Given the description of an element on the screen output the (x, y) to click on. 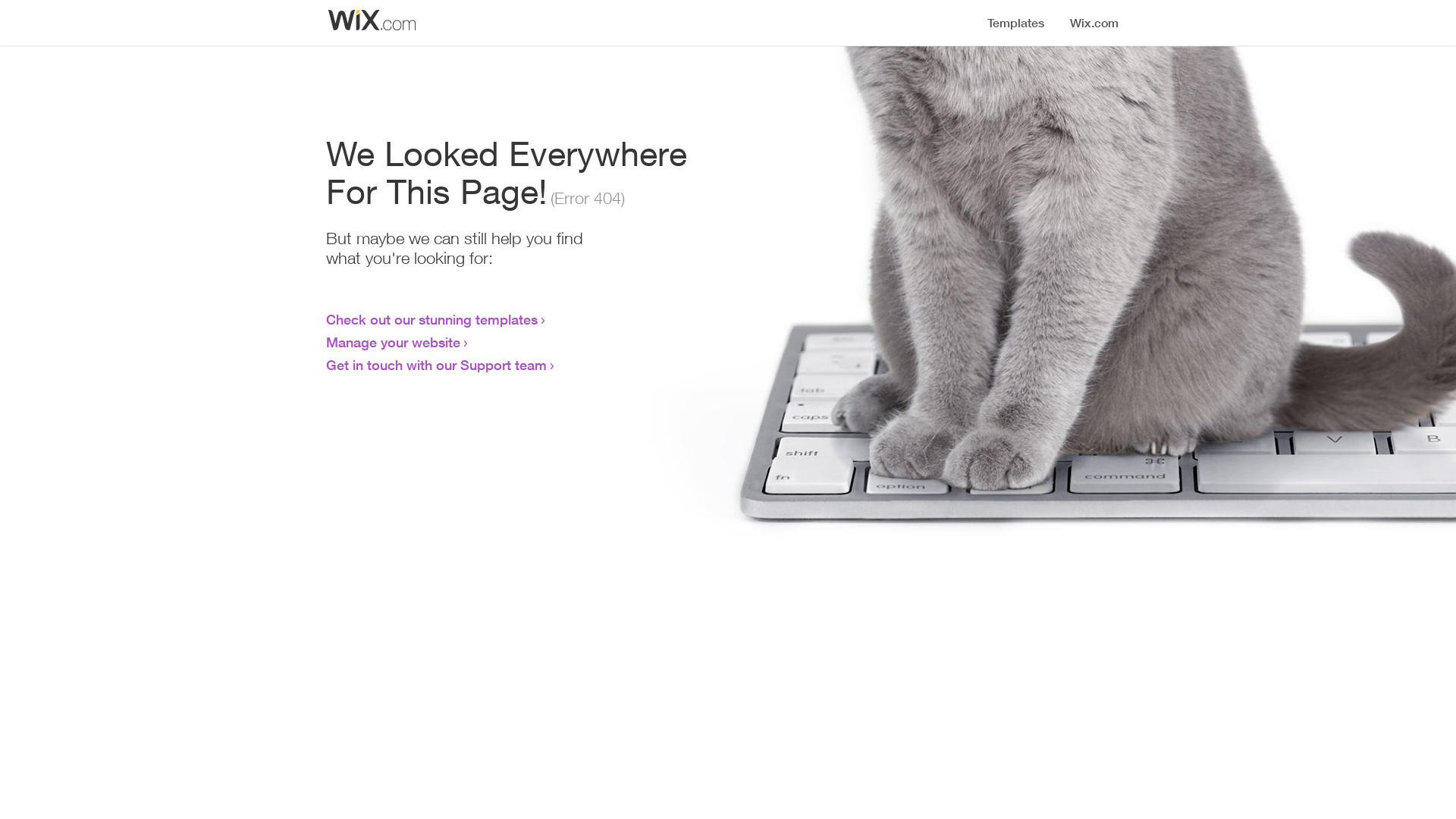
Check out our stunning templates Element type: text (431, 318)
Get in touch with our Support team Element type: text (436, 364)
Manage your website Element type: text (393, 341)
